Given the description of an element on the screen output the (x, y) to click on. 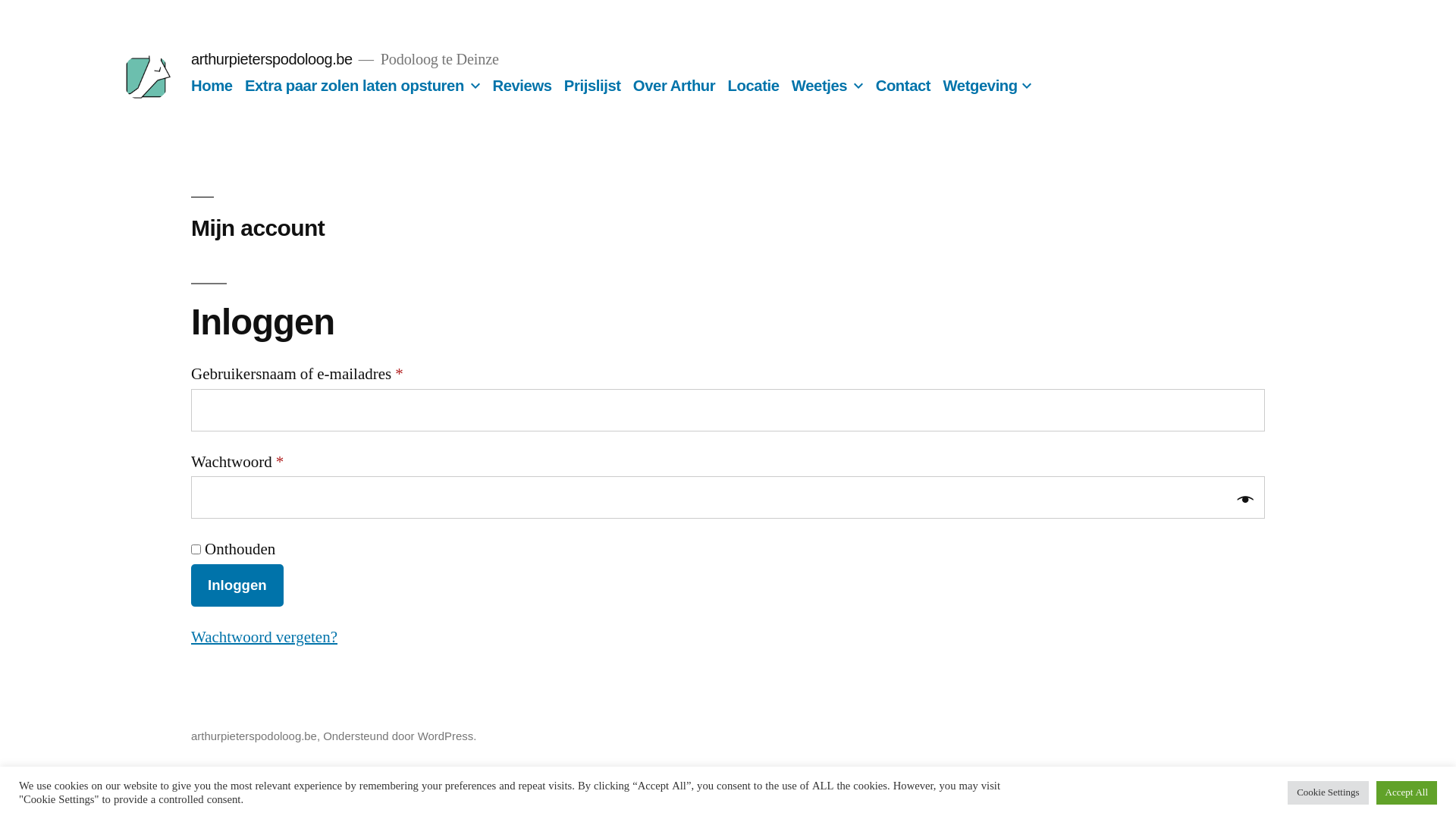
Over Arthur Element type: text (674, 85)
Extra paar zolen laten opsturen Element type: text (354, 85)
Prijslijst Element type: text (592, 85)
Wetgeving Element type: text (979, 85)
Inloggen Element type: text (237, 585)
Accept All Element type: text (1406, 792)
arthurpieterspodoloog.be Element type: text (271, 58)
Home Element type: text (211, 85)
Wachtwoord vergeten? Element type: text (264, 637)
Locatie Element type: text (753, 85)
Weetjes Element type: text (819, 85)
Contact Element type: text (903, 85)
Ondersteund door WordPress. Element type: text (399, 735)
Cookie Settings Element type: text (1327, 792)
Reviews Element type: text (521, 85)
arthurpieterspodoloog.be Element type: text (253, 735)
